Given the description of an element on the screen output the (x, y) to click on. 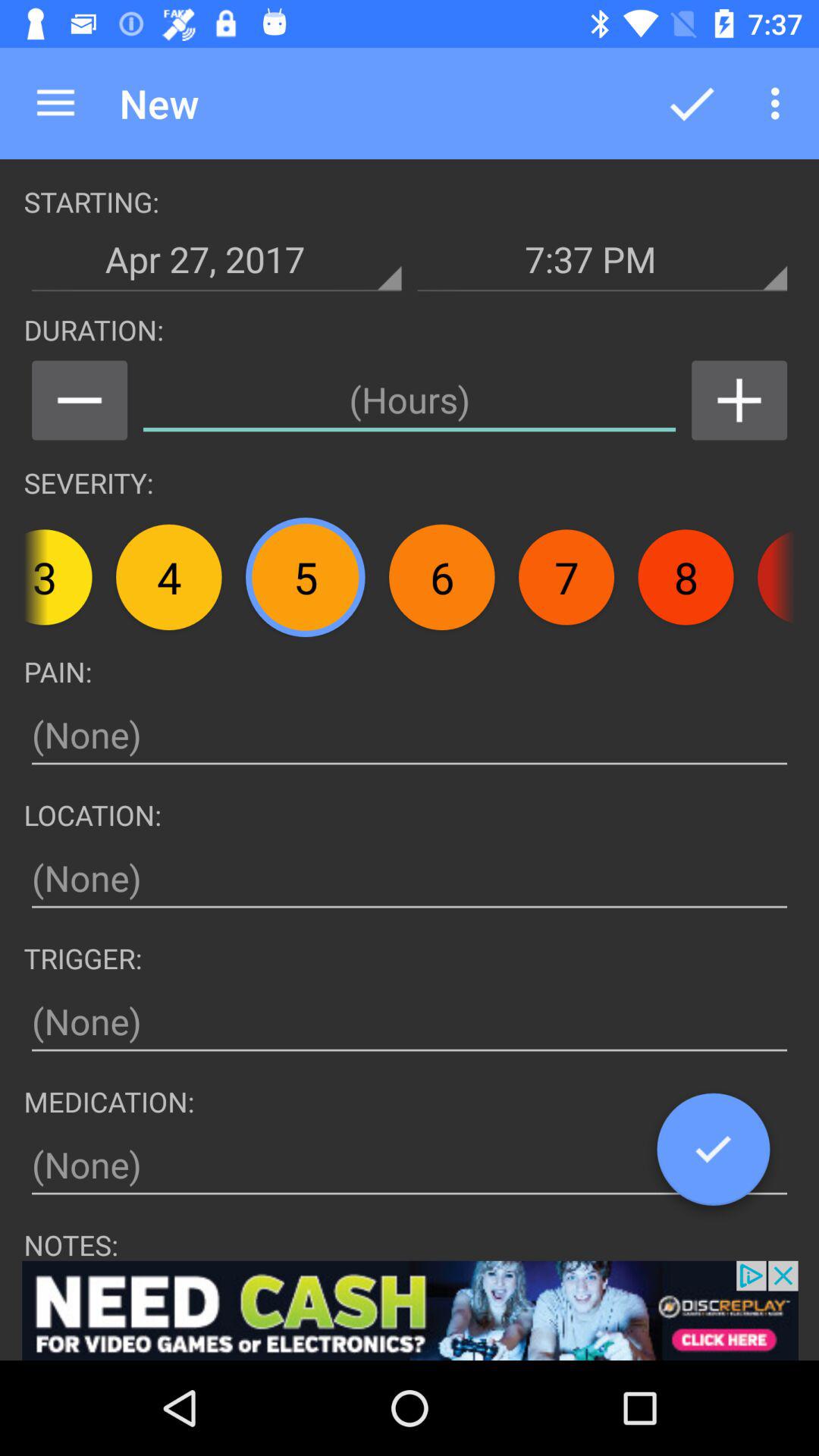
degrees the option (79, 400)
